Given the description of an element on the screen output the (x, y) to click on. 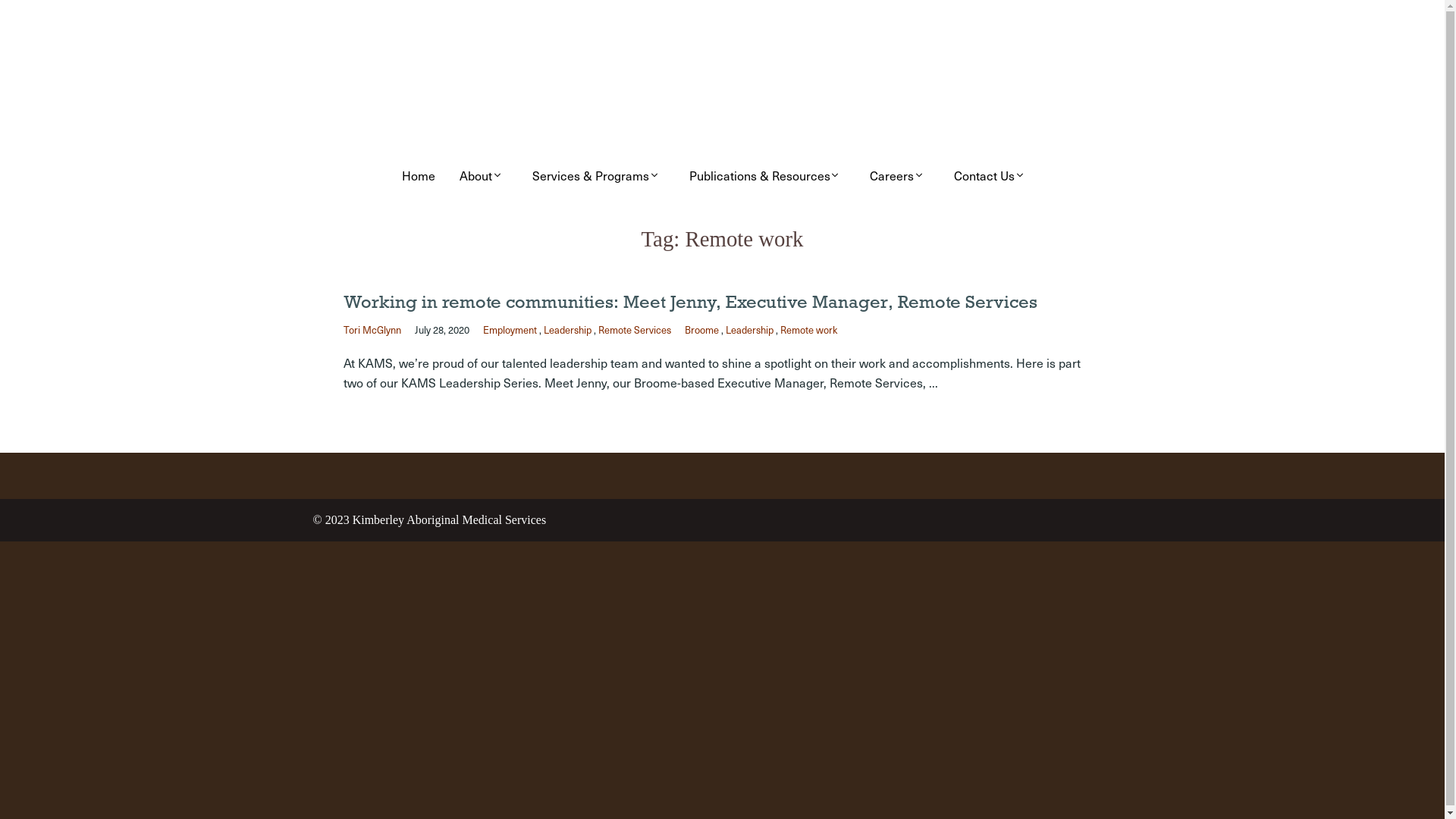
About Element type: text (483, 175)
Services & Programs Element type: text (598, 175)
Tori McGlynn Element type: text (371, 329)
Home Element type: text (418, 175)
Broome Element type: text (701, 329)
Remote work Element type: text (807, 329)
Publications & Resources Element type: text (767, 175)
Employment Element type: text (509, 329)
Remote Services Element type: text (633, 329)
Leadership Element type: text (748, 329)
Contact Us Element type: text (992, 175)
Leadership Element type: text (566, 329)
Careers Element type: text (899, 175)
